Given the description of an element on the screen output the (x, y) to click on. 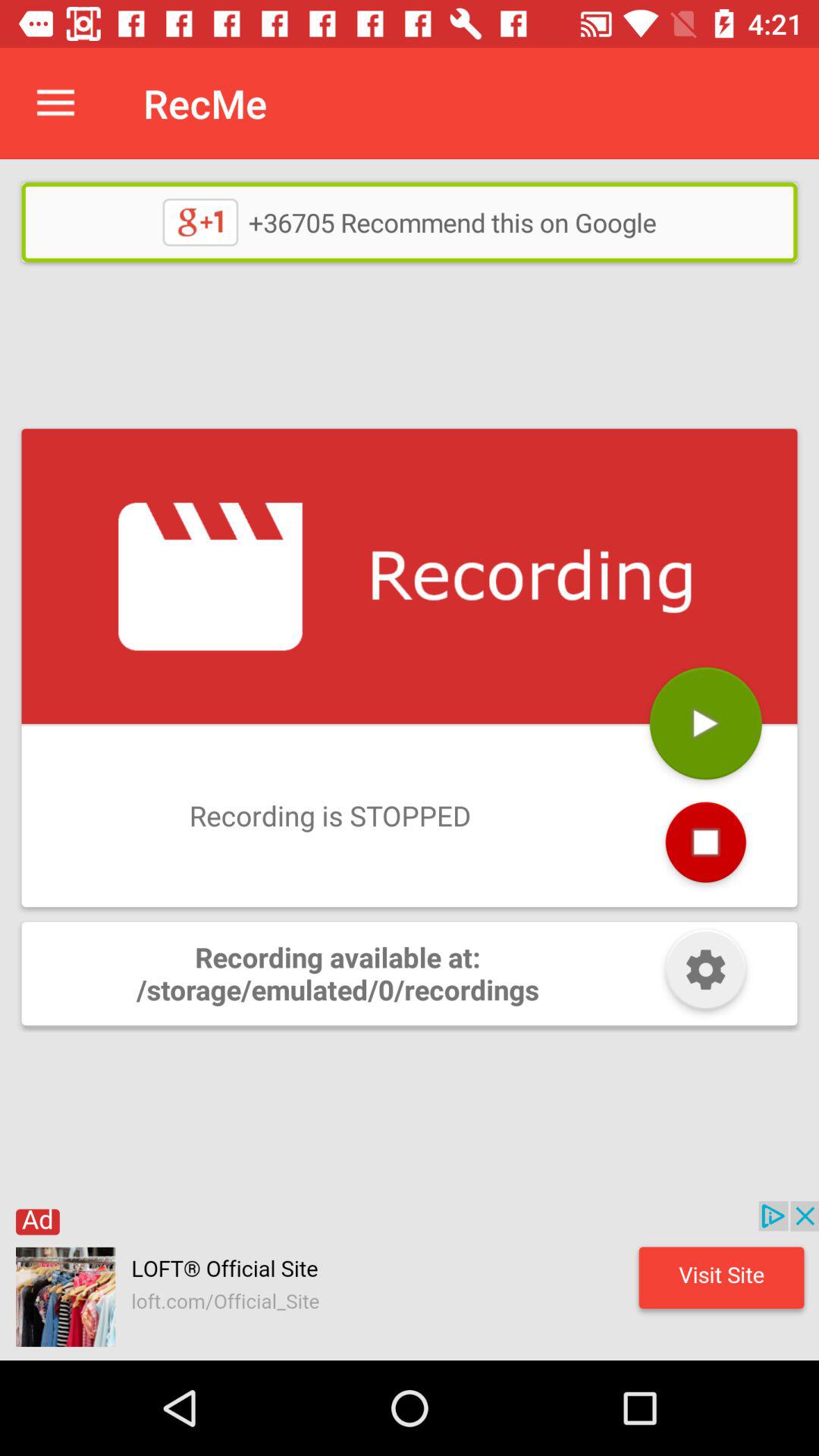
advertisement (409, 1280)
